Given the description of an element on the screen output the (x, y) to click on. 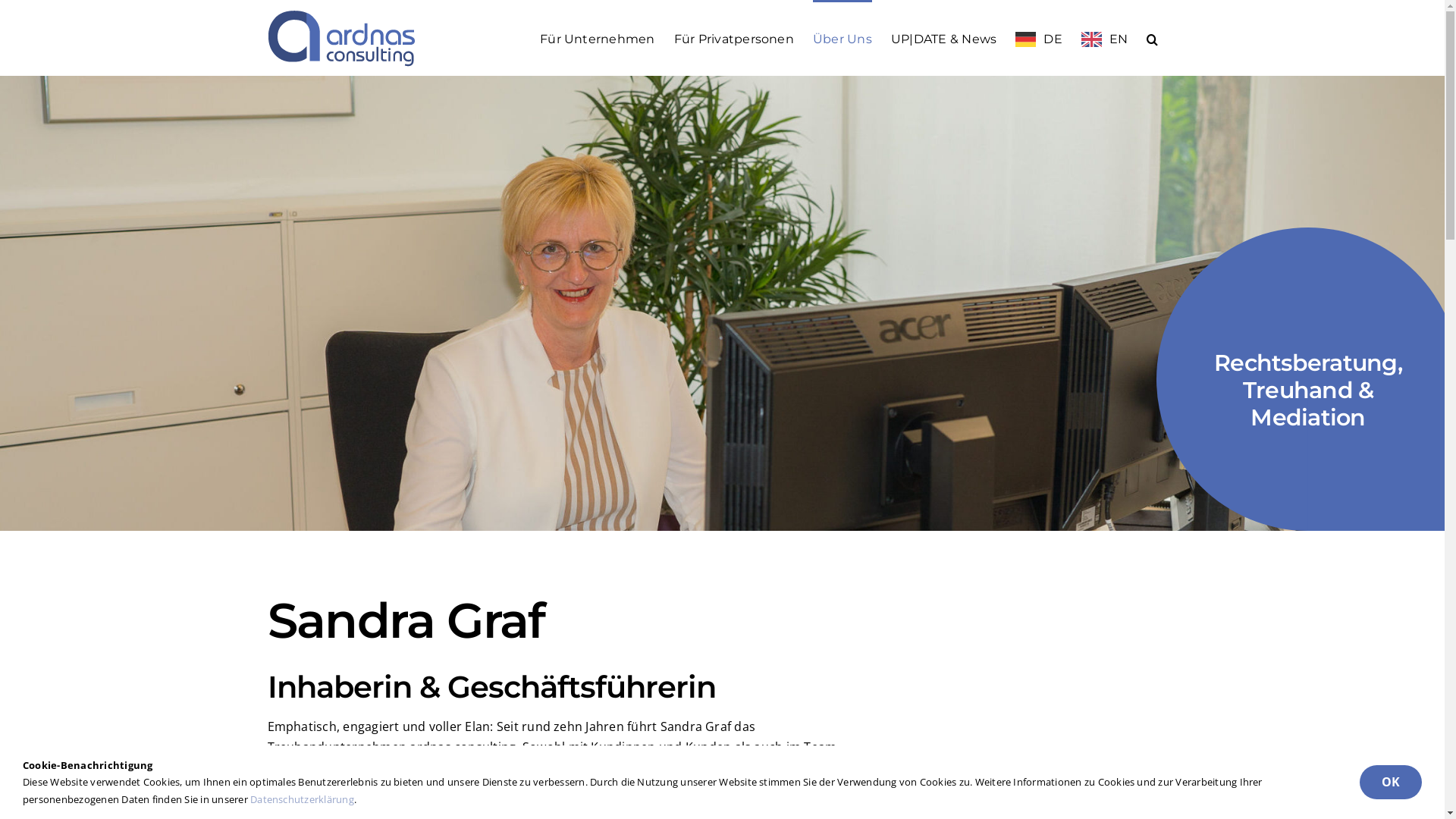
Suche Element type: hover (1151, 37)
UP|DATE & News Element type: text (943, 37)
EN Element type: text (1104, 37)
OK Element type: text (1390, 782)
DE Element type: text (1038, 37)
